Given the description of an element on the screen output the (x, y) to click on. 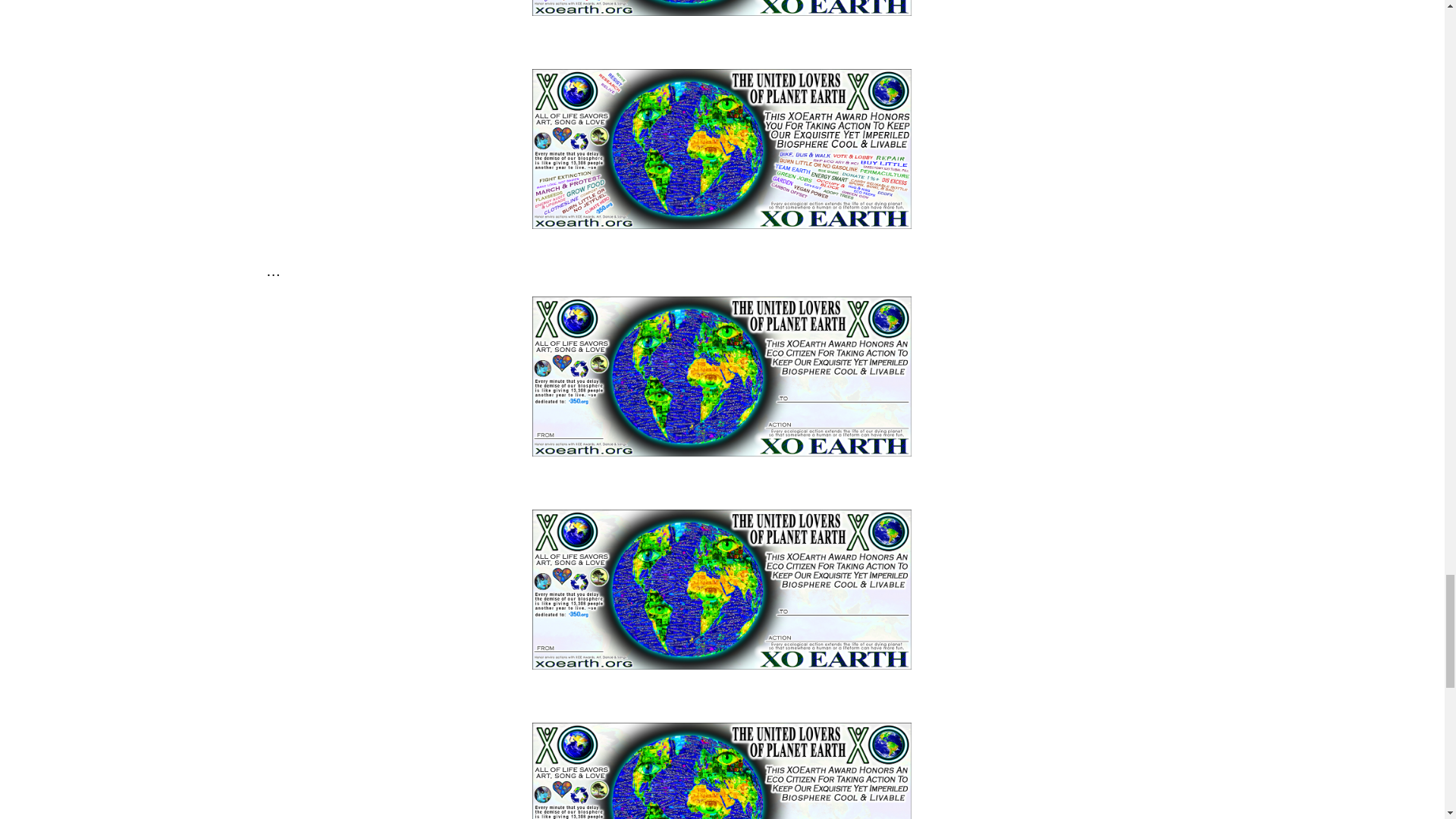
XOEarth Awards - fast (721, 148)
XOEarth Awards - slow (721, 770)
XOEarth Awards - slow (721, 376)
XOEarth Awards - fast (721, 7)
XOEarth Awards - slow (721, 589)
